Given the description of an element on the screen output the (x, y) to click on. 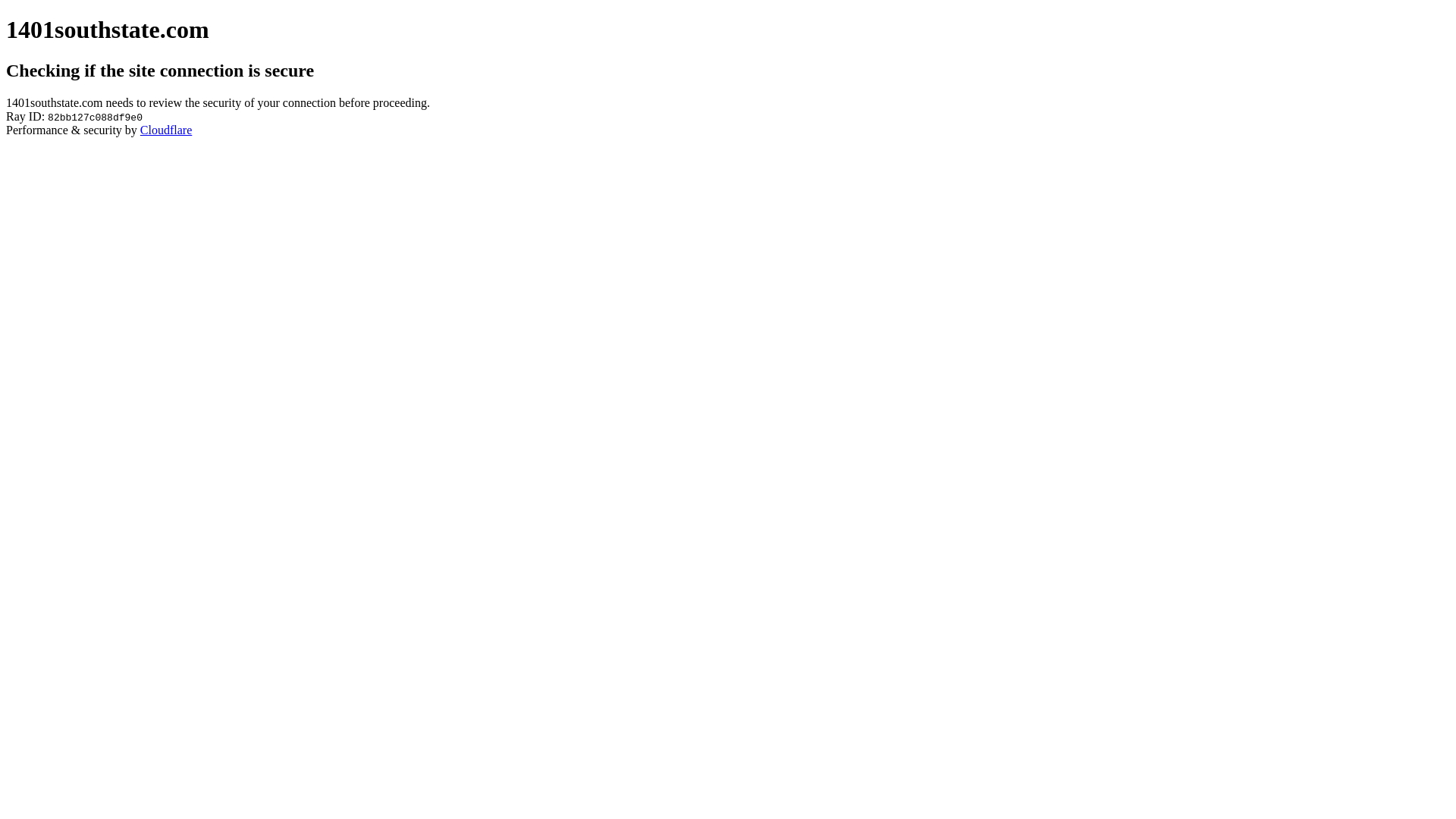
Cloudflare Element type: text (165, 129)
